Given the description of an element on the screen output the (x, y) to click on. 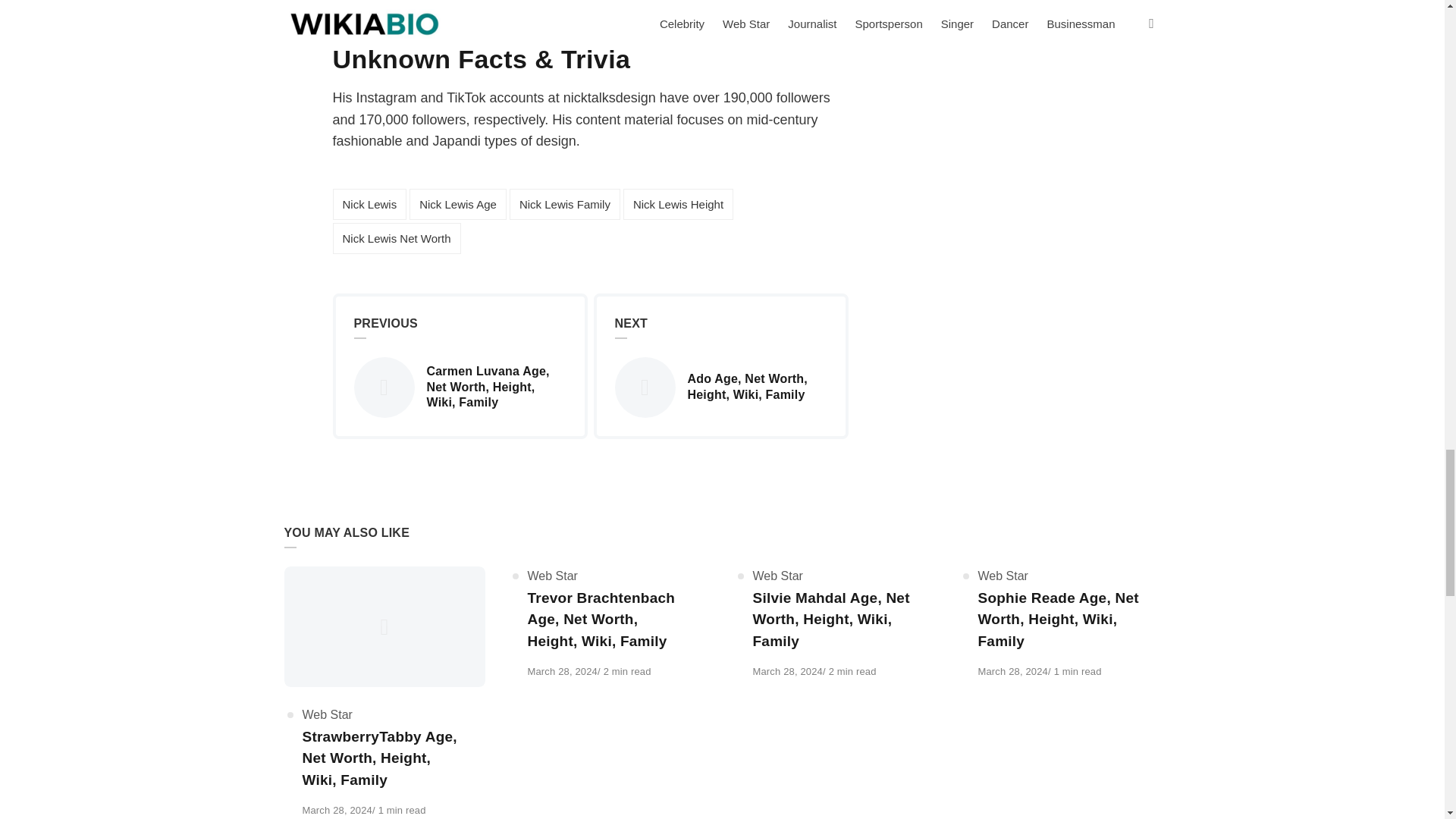
Ado Age, Net Worth, Height, Wiki, Family (720, 387)
Nick Lewis Age (457, 204)
March 28, 2024 (1013, 671)
Nick Lewis (368, 204)
March 28, 2024 (336, 809)
Nick Lewis Family (564, 204)
Web Star (326, 714)
Carmen Luvana Age, Net Worth, Height, Wiki, Family (459, 387)
March 28, 2024 (561, 671)
March 28, 2024 (1013, 671)
